Given the description of an element on the screen output the (x, y) to click on. 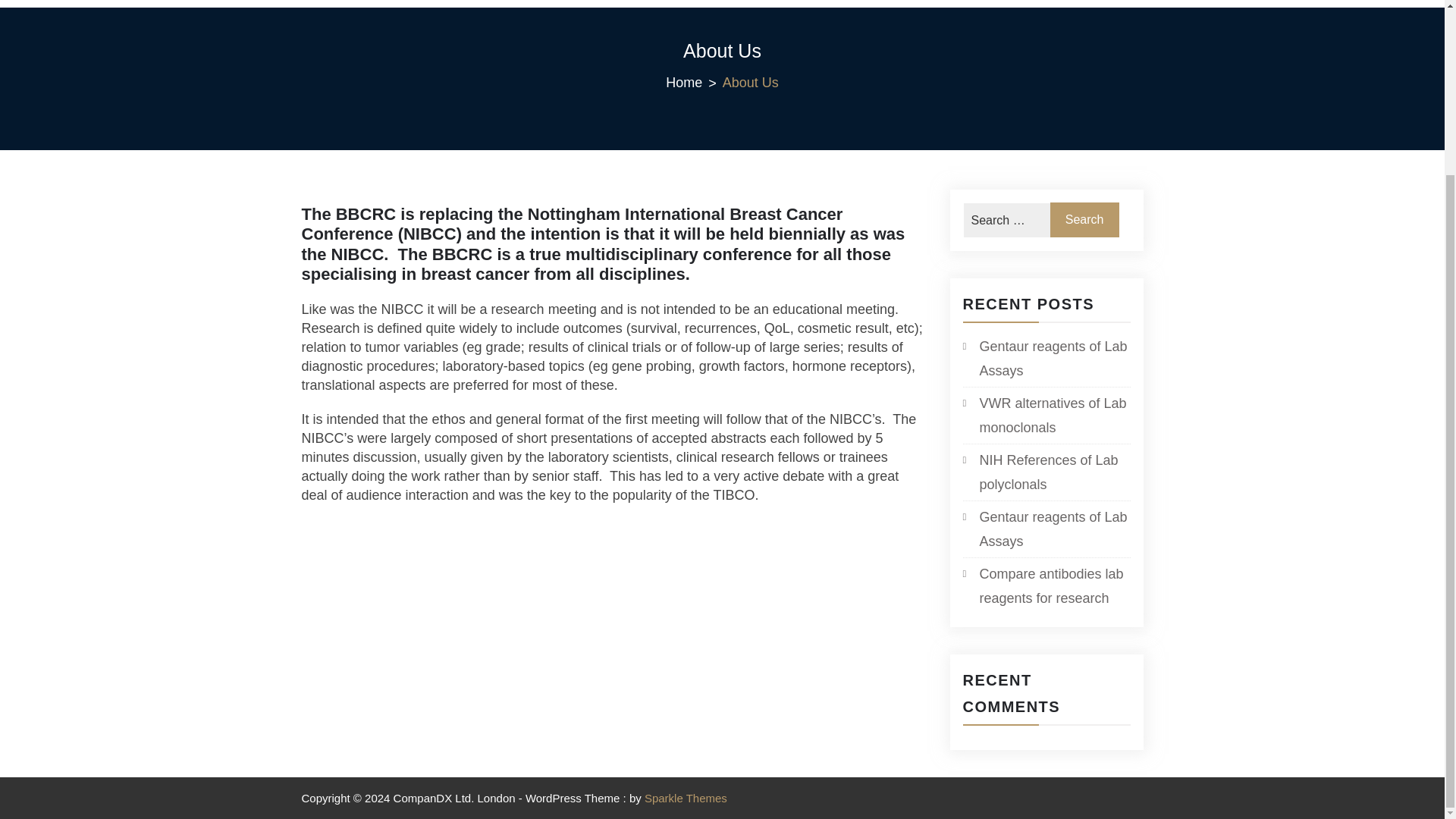
Search (1084, 219)
Search (1084, 219)
Sparkle Themes (685, 797)
Compare antibodies lab reagents for research (1046, 585)
NIH References of Lab polyclonals (1046, 471)
VWR alternatives of Lab monoclonals (1046, 415)
Gentaur reagents of Lab Assays (1046, 358)
Search (1084, 219)
HOME (383, 0)
Gentaur reagents of Lab Assays (1046, 529)
Home (693, 82)
